Given the description of an element on the screen output the (x, y) to click on. 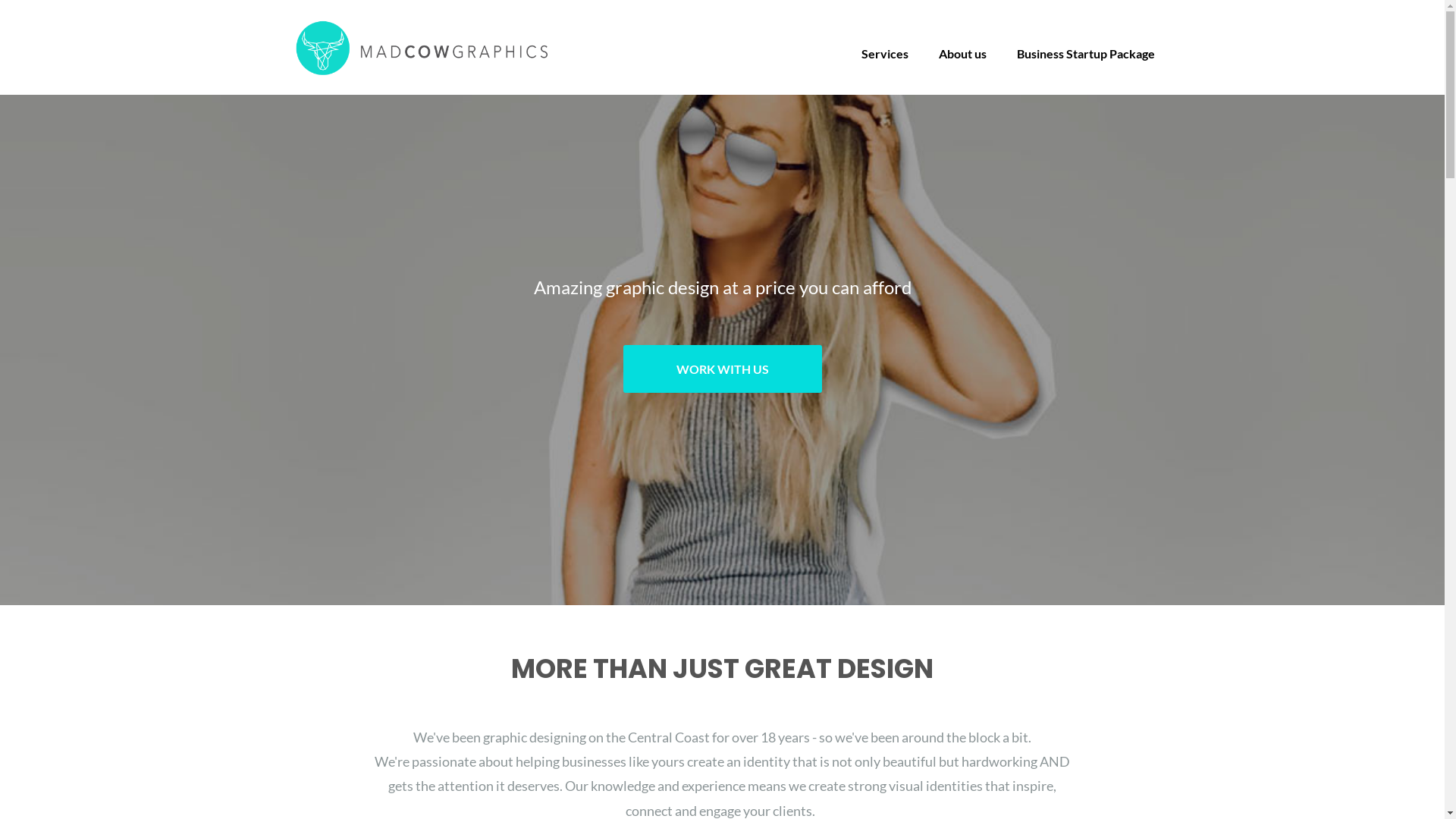
Services Element type: text (884, 53)
About us Element type: text (962, 53)
Mad Cow Graphics Element type: hover (422, 44)
Business Startup Package Element type: text (1085, 53)
WORK WITH US Element type: text (722, 368)
